Given the description of an element on the screen output the (x, y) to click on. 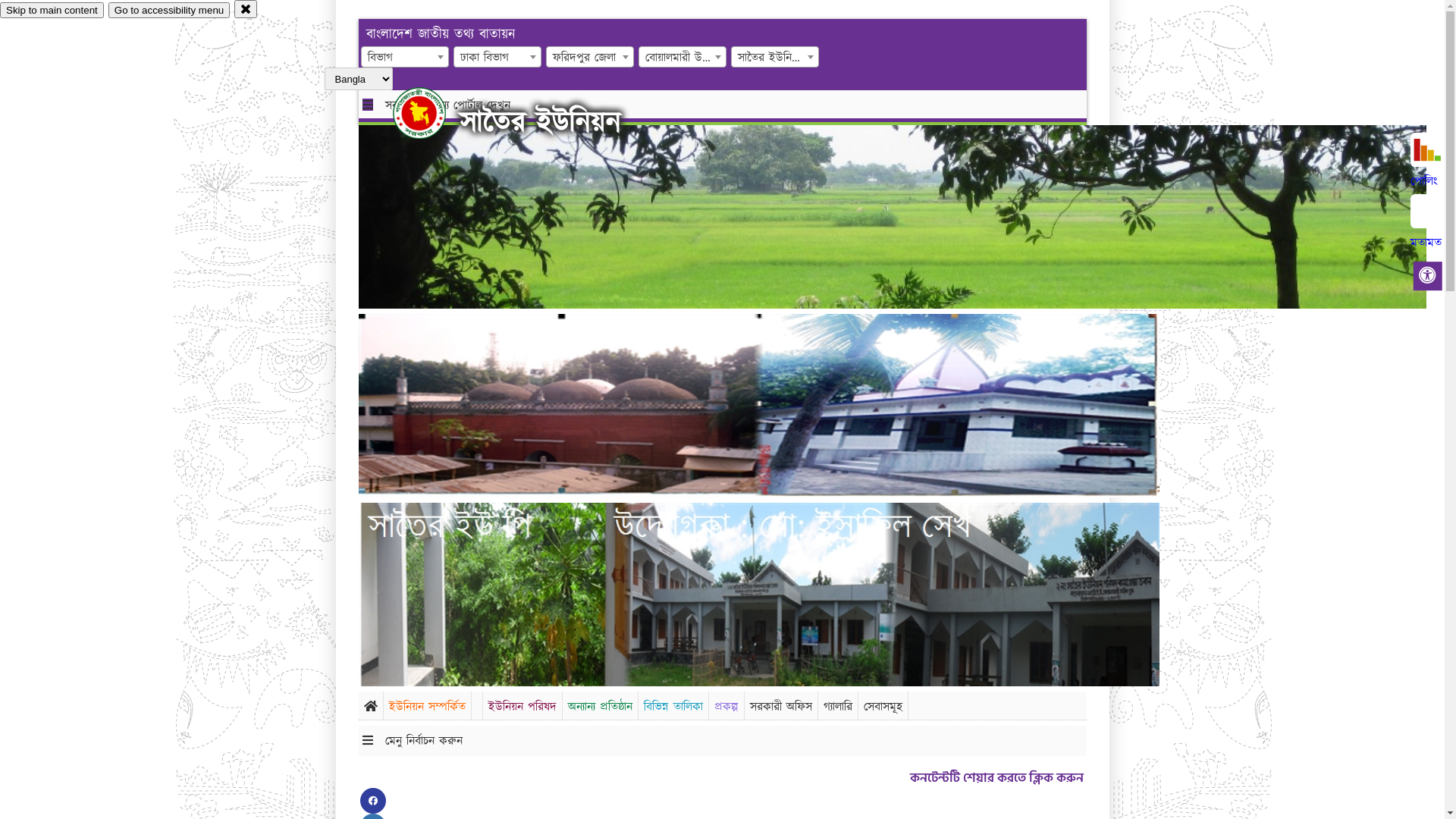
Go to accessibility menu Element type: text (168, 10)
close Element type: hover (245, 9)

                
             Element type: hover (431, 112)
Skip to main content Element type: text (51, 10)
